Given the description of an element on the screen output the (x, y) to click on. 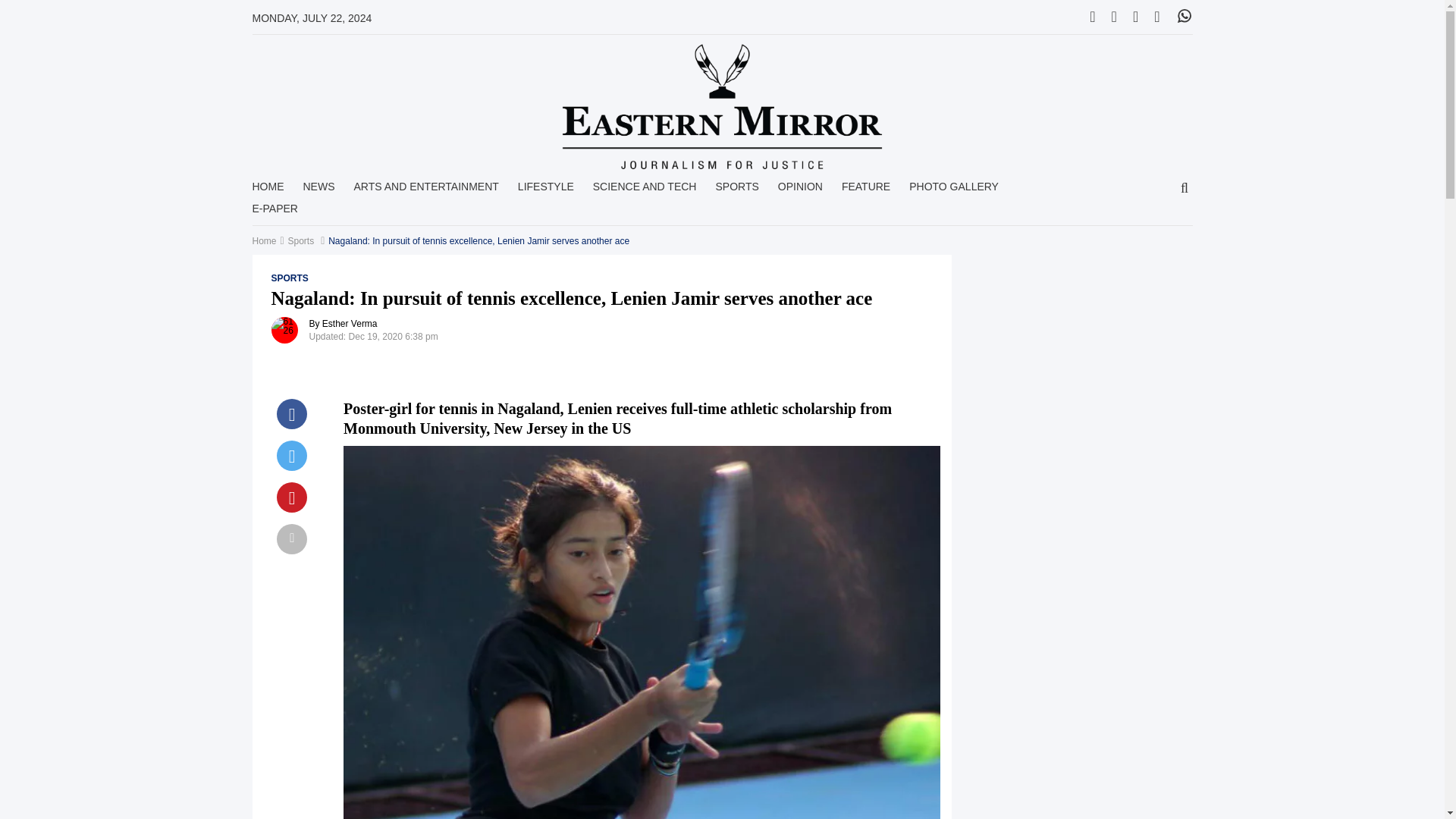
NEWS (318, 191)
HOME (267, 191)
Eastern Mirror (722, 106)
LIFESTYLE (545, 191)
GO (1184, 188)
GO (1184, 188)
ARTS AND ENTERTAINMENT (425, 191)
